Given the description of an element on the screen output the (x, y) to click on. 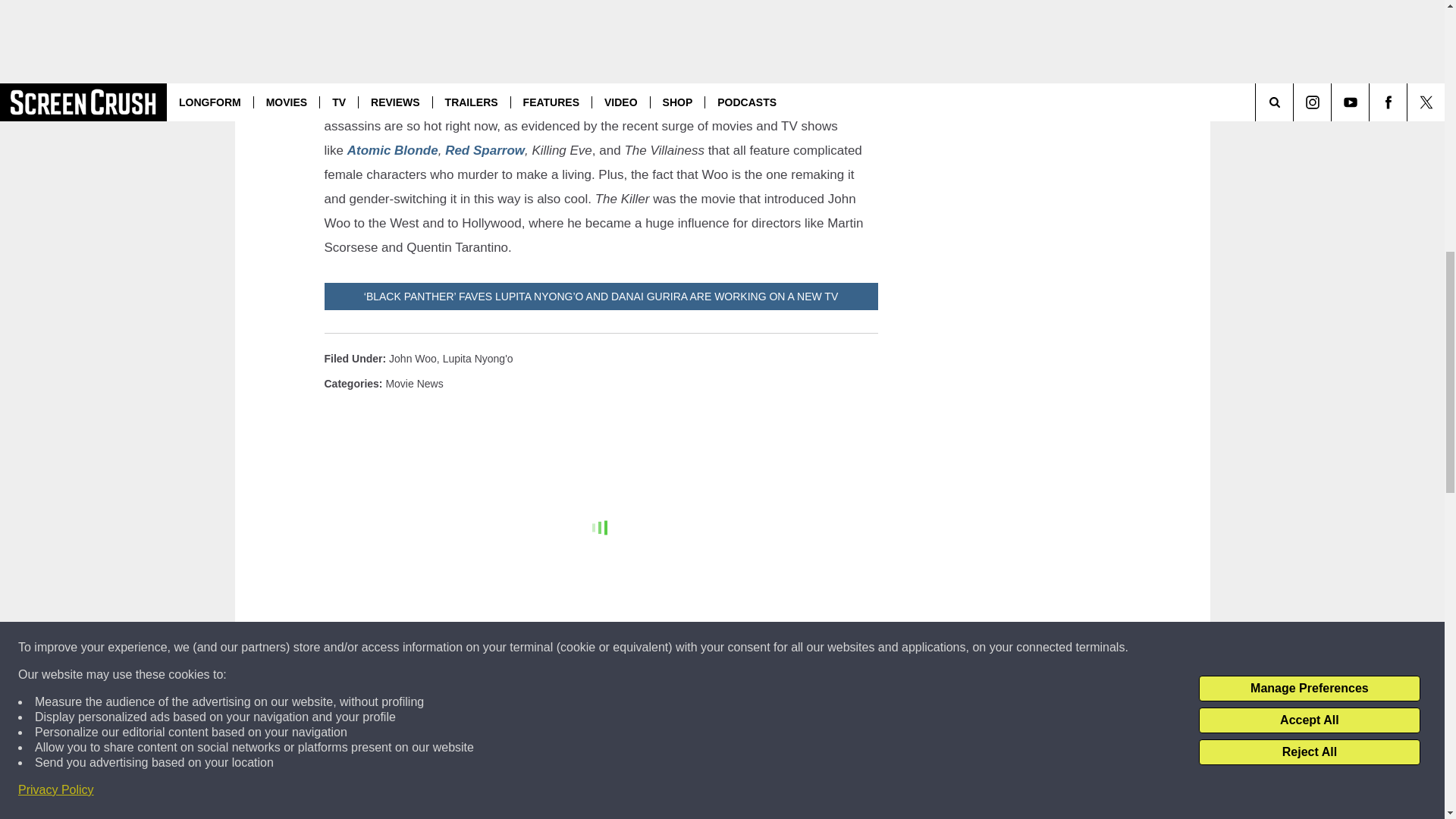
Movie News (413, 383)
John Woo (412, 358)
Red Sparrow (484, 150)
Atomic Blonde (392, 150)
Lupita Nyong'O (477, 358)
